Given the description of an element on the screen output the (x, y) to click on. 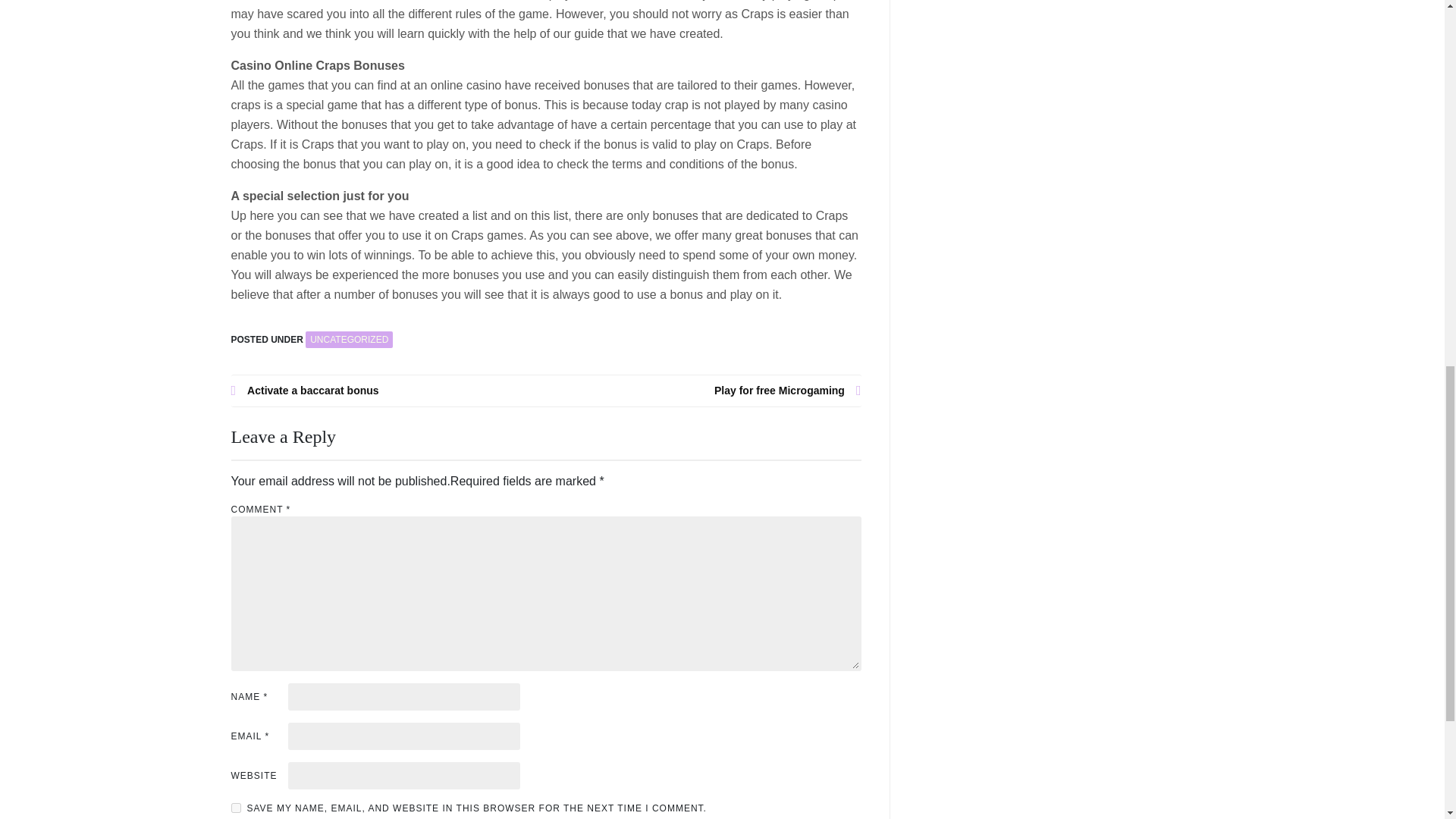
Play for free Microgaming (703, 390)
Activate a baccarat bonus (388, 390)
UNCATEGORIZED (349, 339)
yes (235, 808)
